Given the description of an element on the screen output the (x, y) to click on. 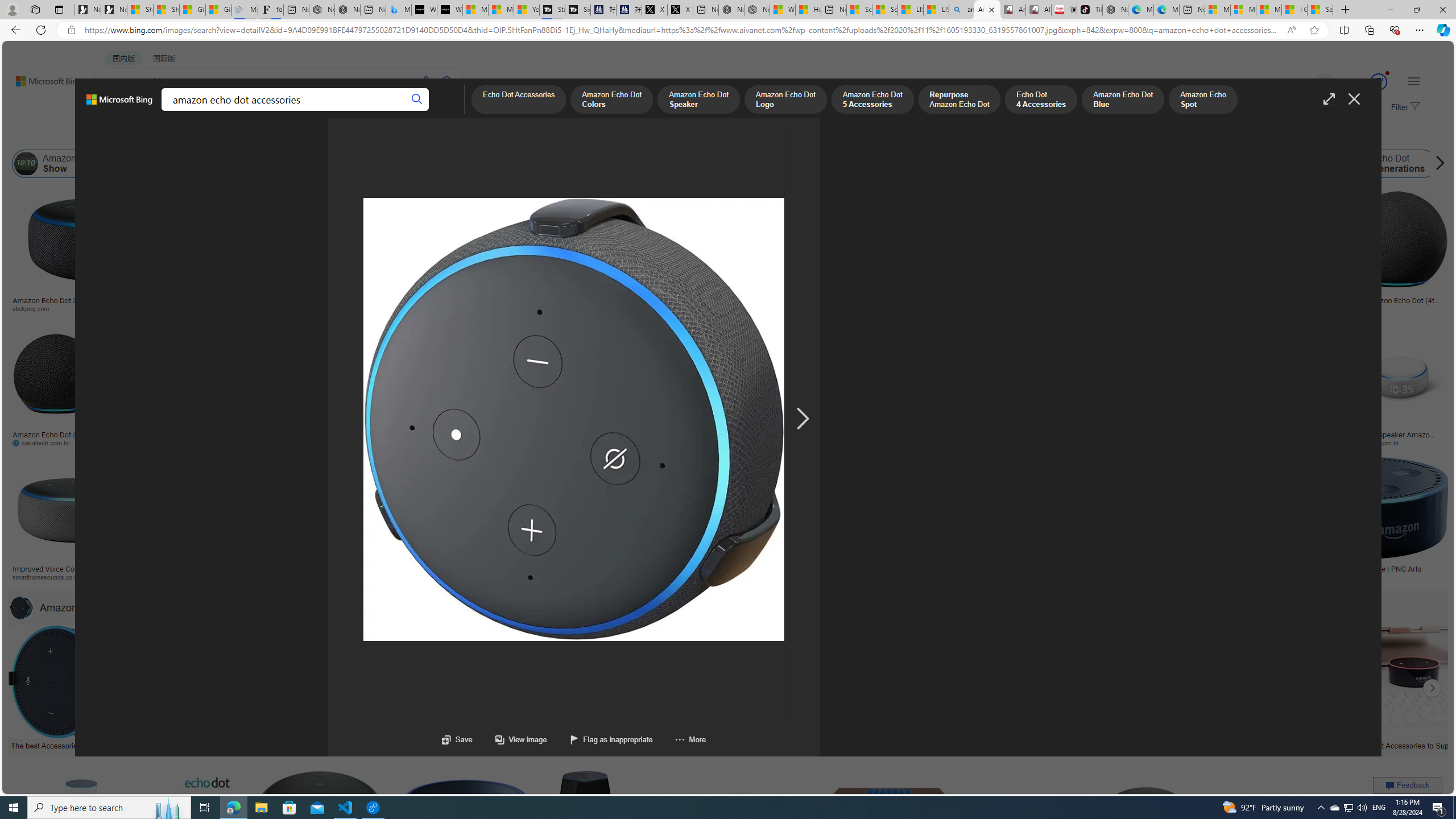
Amazon Alexa Echo (129, 163)
Amazon Echo Dot PNG - Search Images (986, 9)
skroutz.gr (932, 576)
Search button (417, 99)
Gilma and Hector both pose tropical trouble for Hawaii (217, 9)
Amazonecho Dot With Alexa (Gen 4) (1190, 568)
Date (336, 135)
Android Central (413, 576)
